Given the description of an element on the screen output the (x, y) to click on. 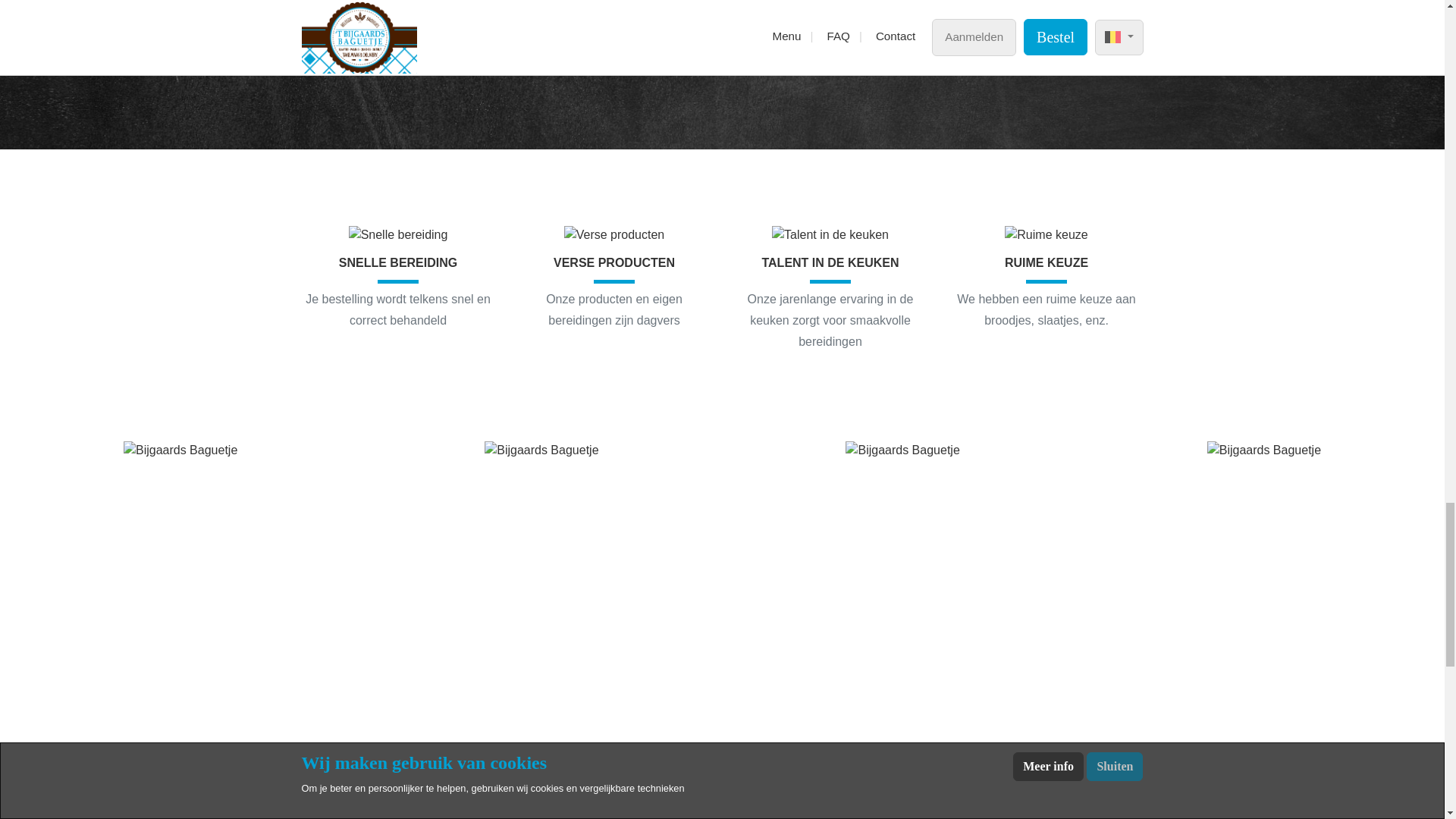
Bestel (621, 54)
